Given the description of an element on the screen output the (x, y) to click on. 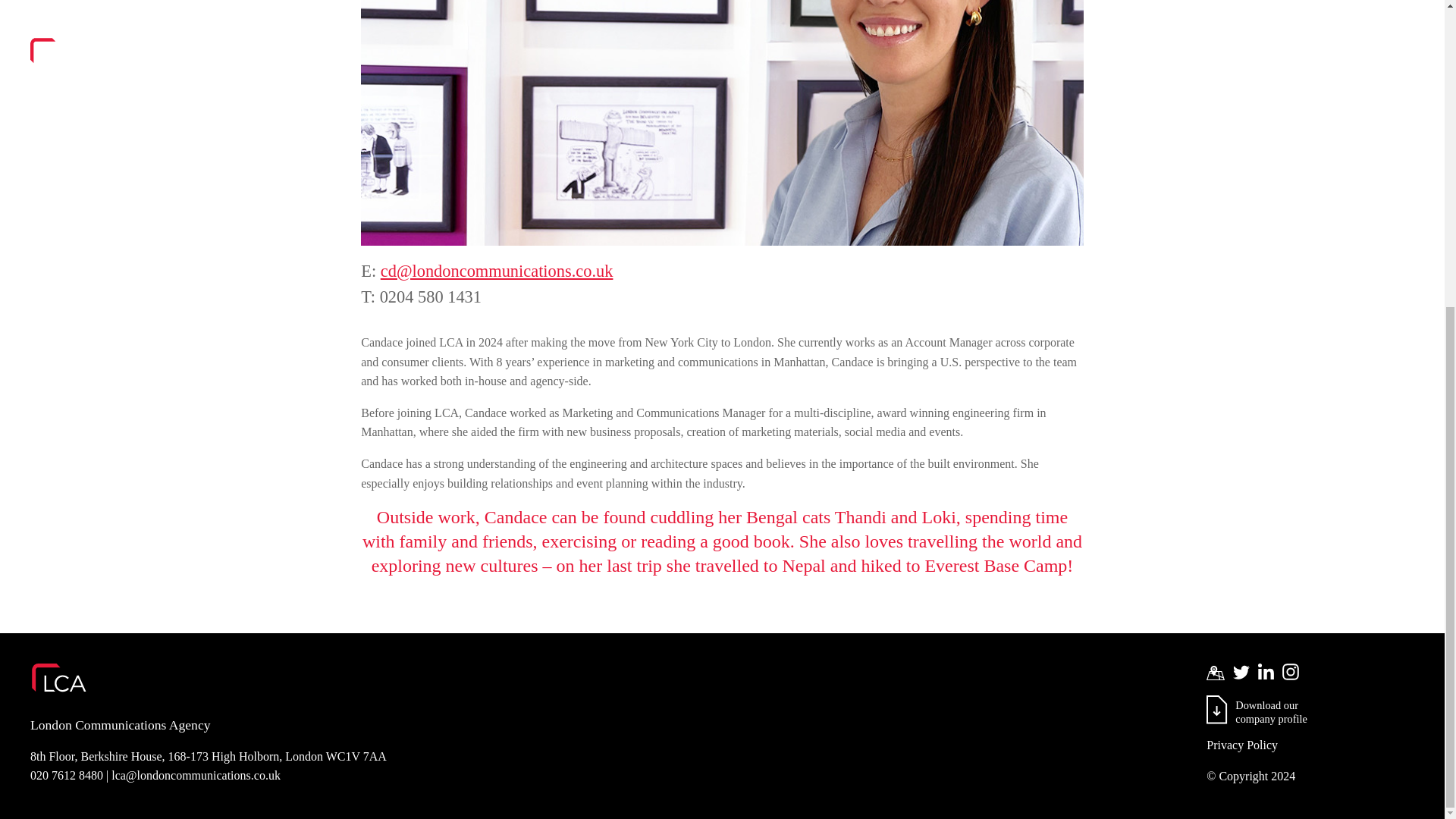
LinkedIn (1265, 671)
Twitter (1241, 671)
Google Map (1215, 672)
Privacy Policy (1310, 745)
Instagram (1217, 709)
020 7612 8480 (1290, 671)
